Given the description of an element on the screen output the (x, y) to click on. 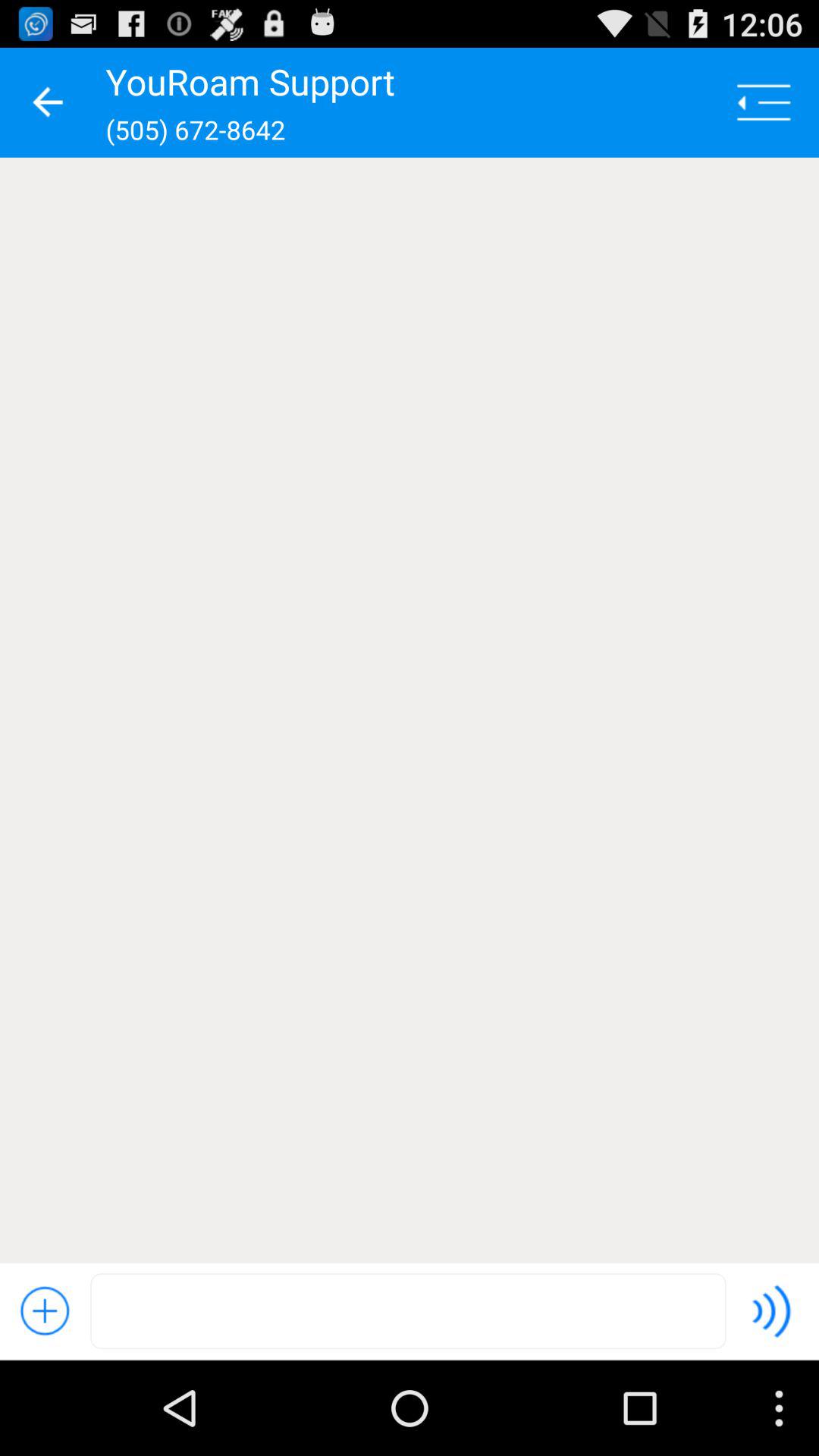
launch the item at the center (409, 710)
